Given the description of an element on the screen output the (x, y) to click on. 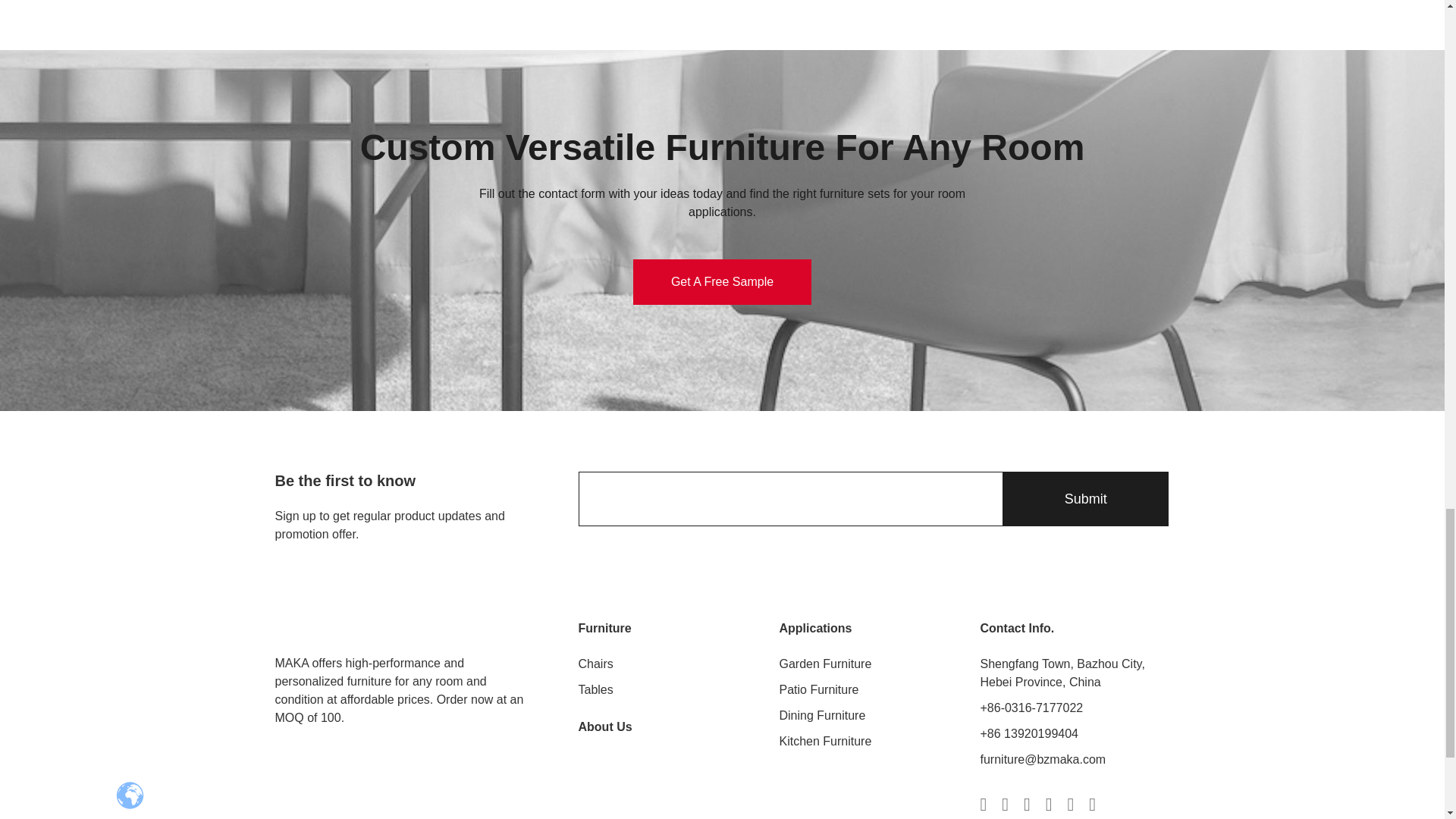
Furniture (604, 628)
Submit (1085, 498)
Get A Free Sample (721, 281)
Submit (1085, 498)
